Given the description of an element on the screen output the (x, y) to click on. 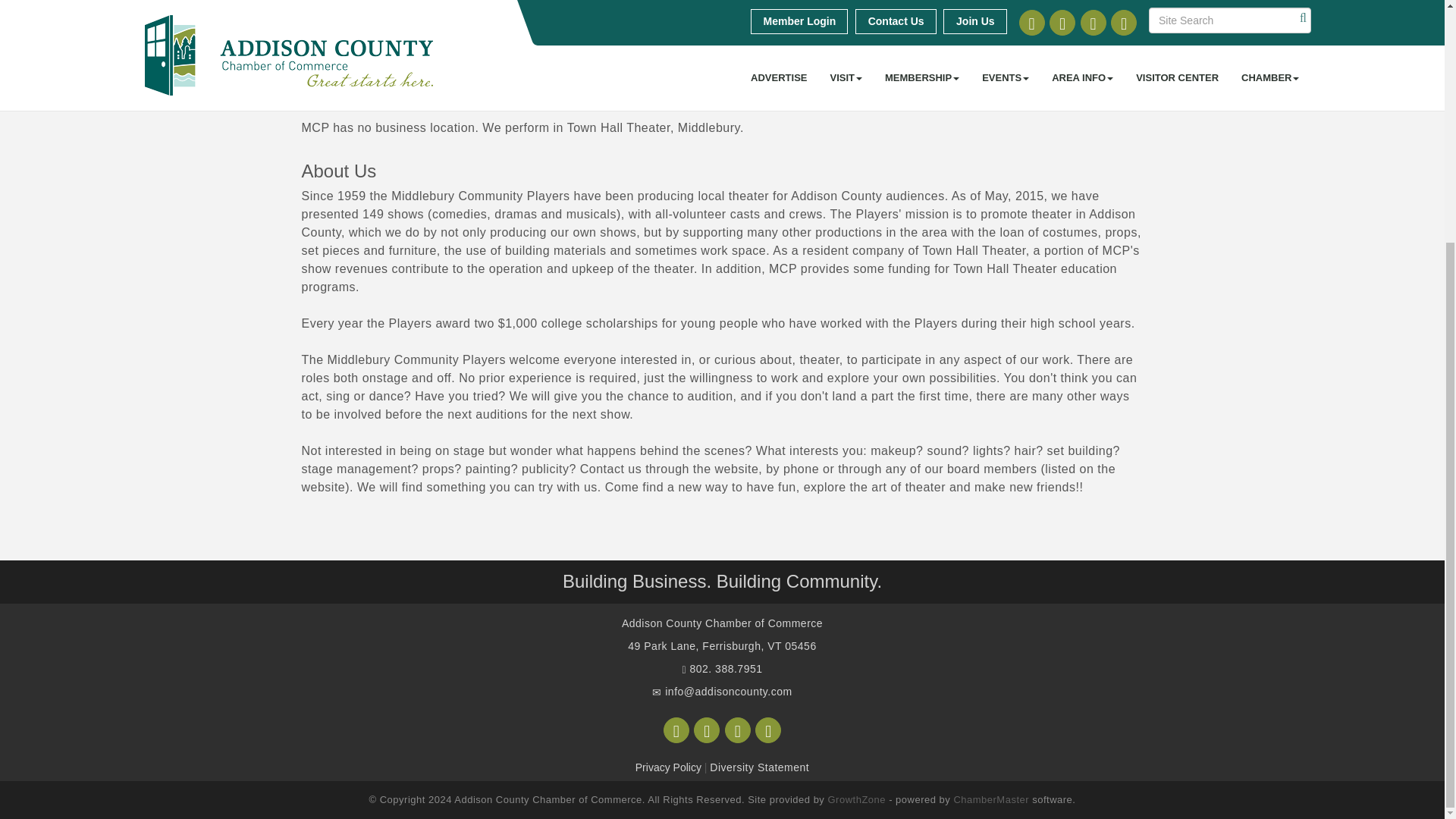
Icon Link (675, 729)
View on Facebook (315, 6)
Icon Link (706, 729)
